Given the description of an element on the screen output the (x, y) to click on. 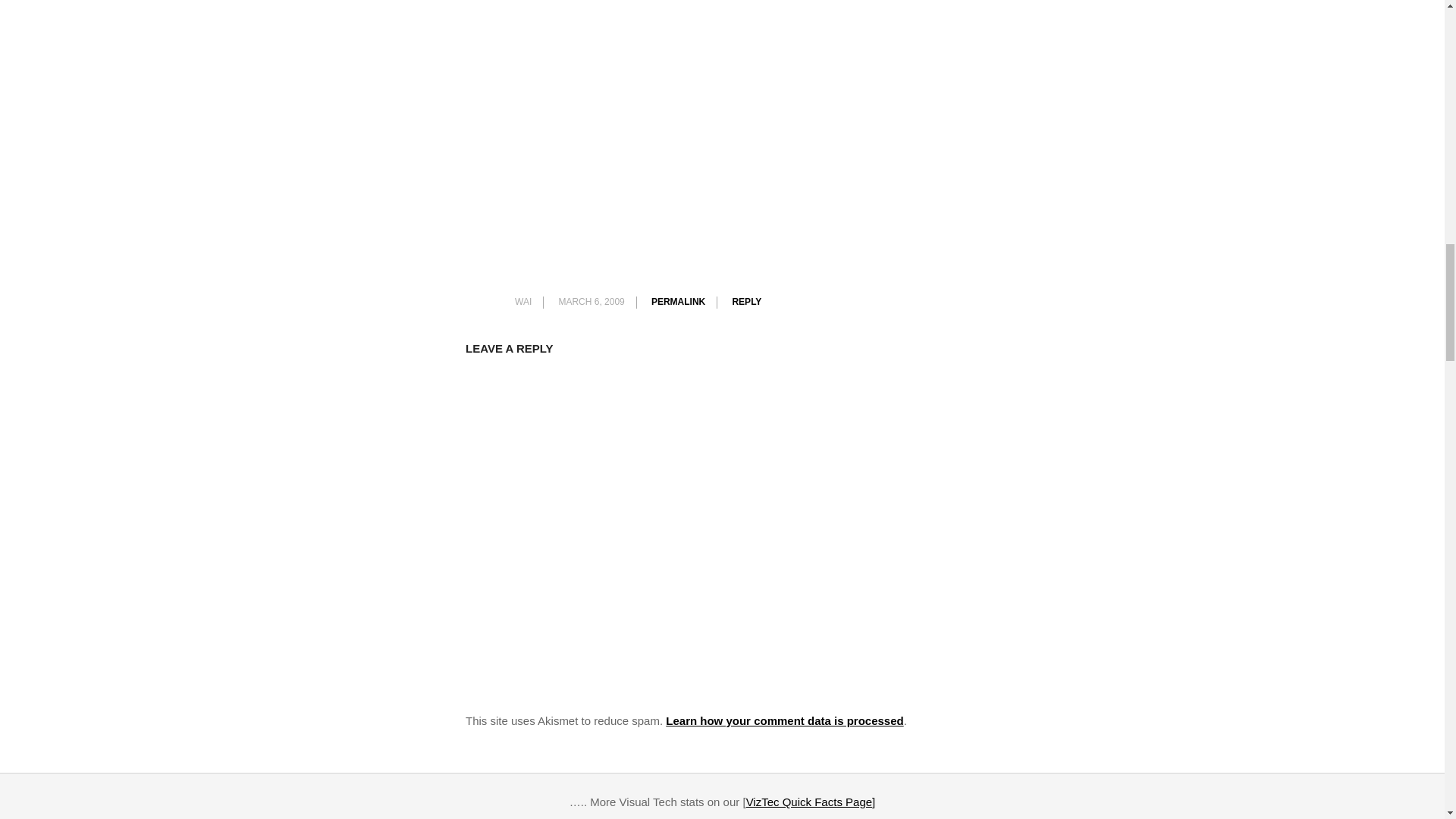
REPLY (746, 301)
Friday, March 6, 2009, 6:35 am (590, 301)
Learn how your comment data is processed (783, 720)
PERMALINK (677, 301)
